Given the description of an element on the screen output the (x, y) to click on. 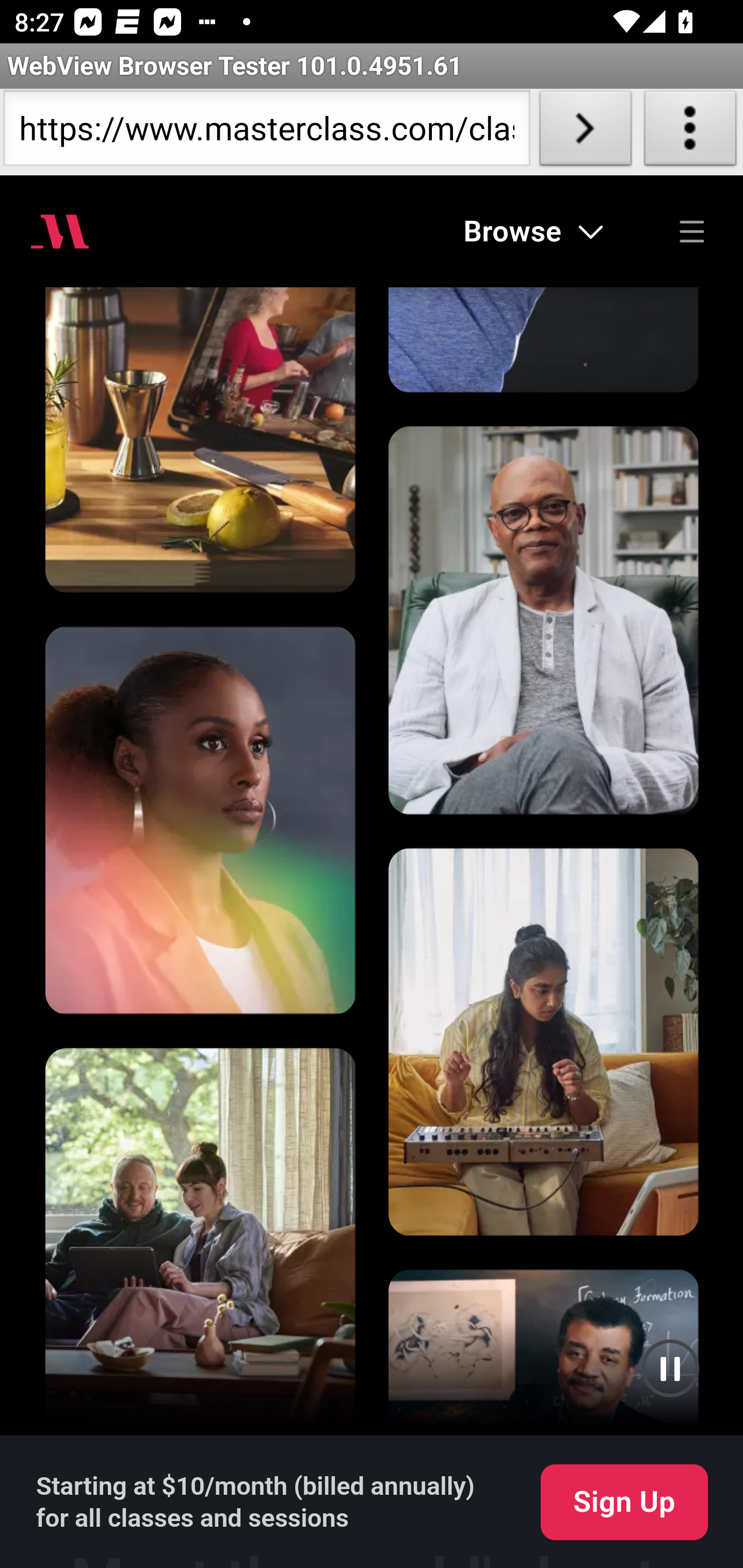
Load URL (585, 132)
About WebView (690, 132)
Browse (533, 230)
MasterClass logo (59, 230)
Pause carousel (669, 1367)
Sign Up (624, 1502)
